Given the description of an element on the screen output the (x, y) to click on. 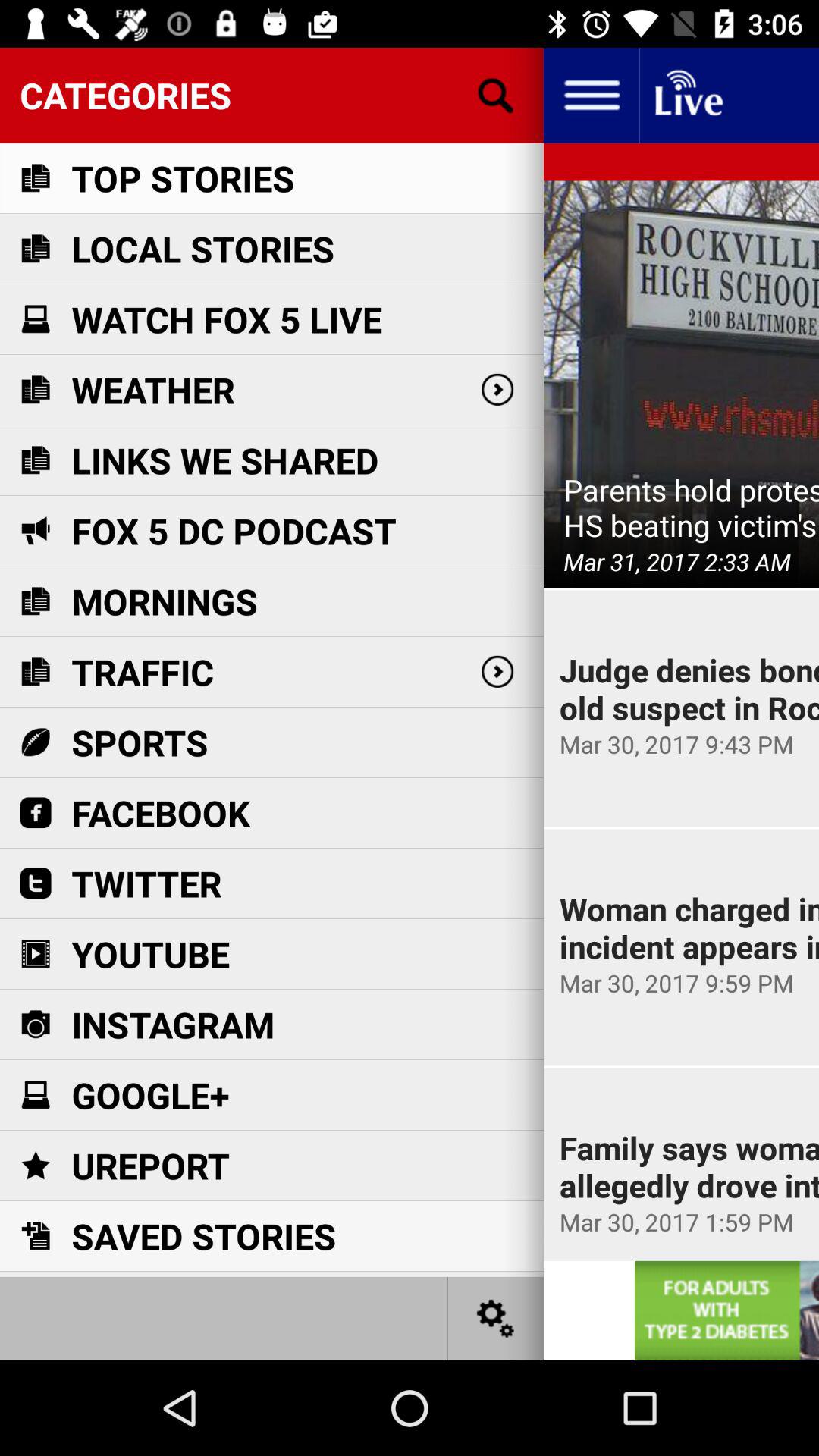
settings (495, 1318)
